Given the description of an element on the screen output the (x, y) to click on. 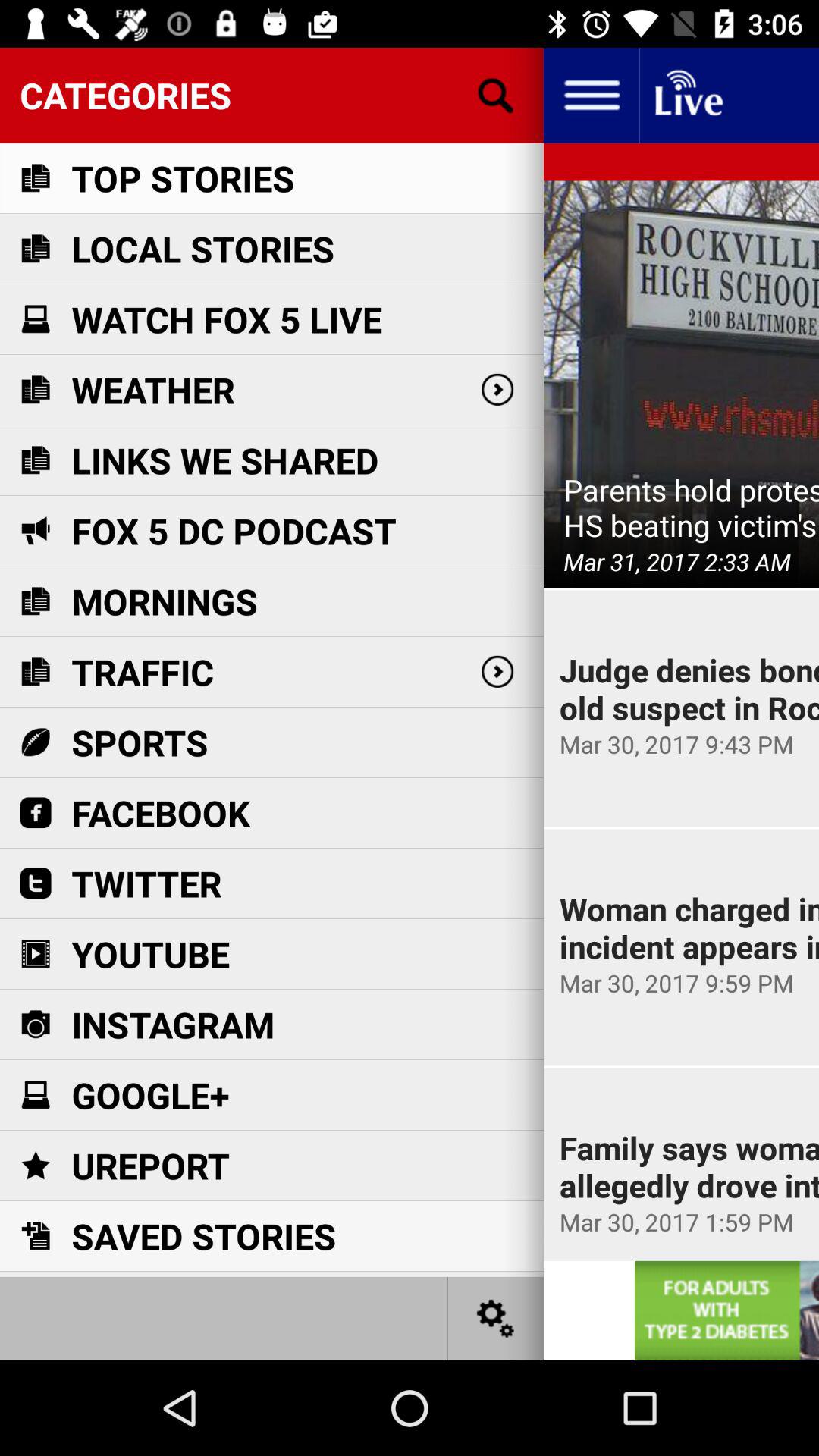
settings (495, 1318)
